Given the description of an element on the screen output the (x, y) to click on. 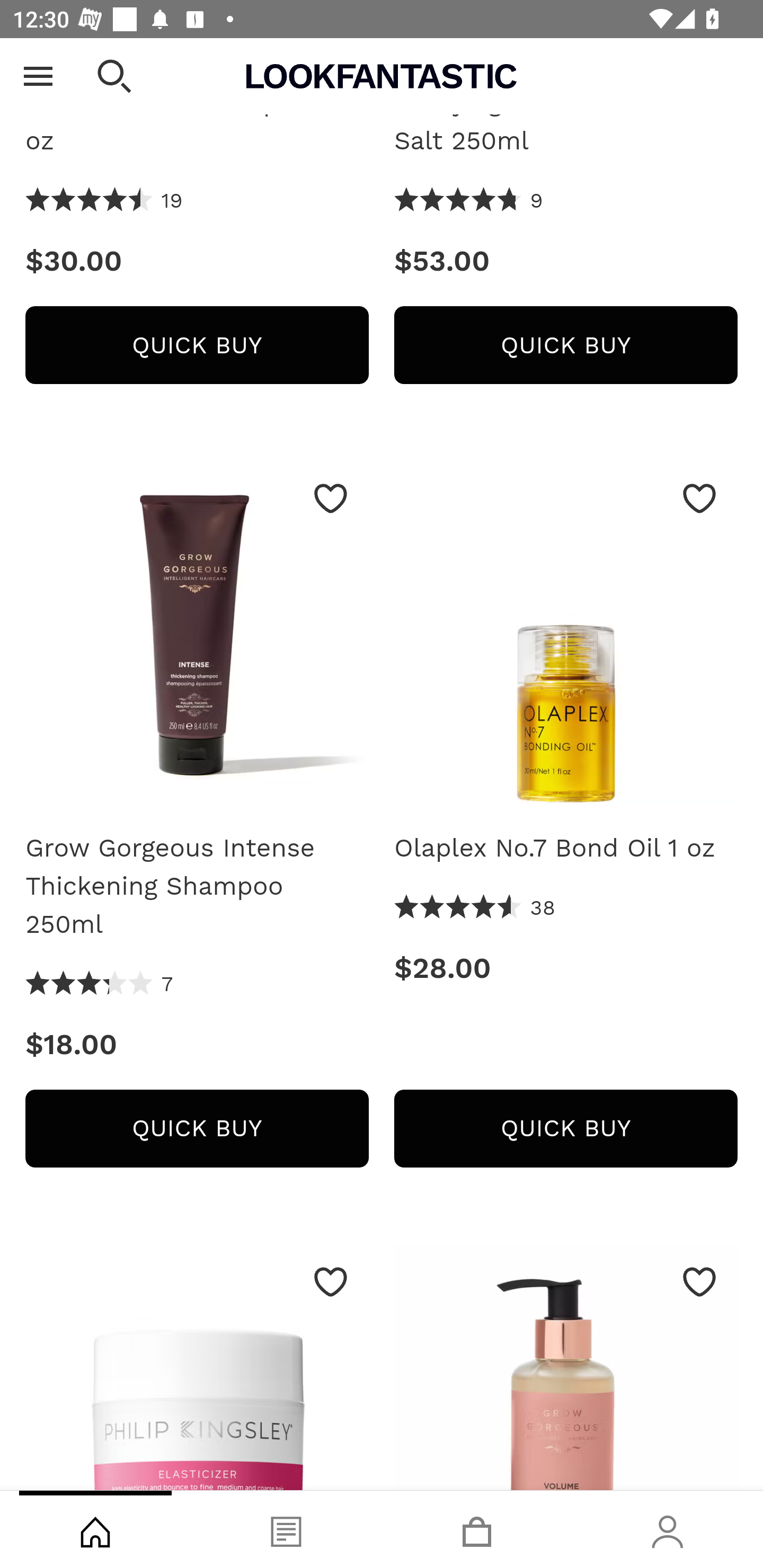
4.53 Stars 19 Reviews (104, 202)
4.78 Stars 9 Reviews (468, 202)
Price: $30.00 (196, 262)
Price: $53.00 (565, 262)
Grow Gorgeous Intense Thickening Shampoo 250ml (196, 639)
Olaplex No.7 Bond Oil 1 oz (565, 639)
Save to Wishlist (330, 500)
Save to Wishlist (698, 500)
Grow Gorgeous Intense Thickening Shampoo 250ml (196, 887)
Olaplex No.7 Bond Oil 1 oz (565, 848)
4.58 Stars 38 Reviews (475, 909)
Price: $28.00 (565, 969)
3.29 Stars 7 Reviews (99, 986)
Price: $18.00 (196, 1046)
QUICK BUY OLAPLEX NO.7 BOND OIL 1 OZ (565, 1129)
Save to Wishlist (330, 1283)
Save to Wishlist (698, 1283)
Shop, tab, 1 of 4 (95, 1529)
Blog, tab, 2 of 4 (285, 1529)
Basket, tab, 3 of 4 (476, 1529)
Account, tab, 4 of 4 (667, 1529)
